Given the description of an element on the screen output the (x, y) to click on. 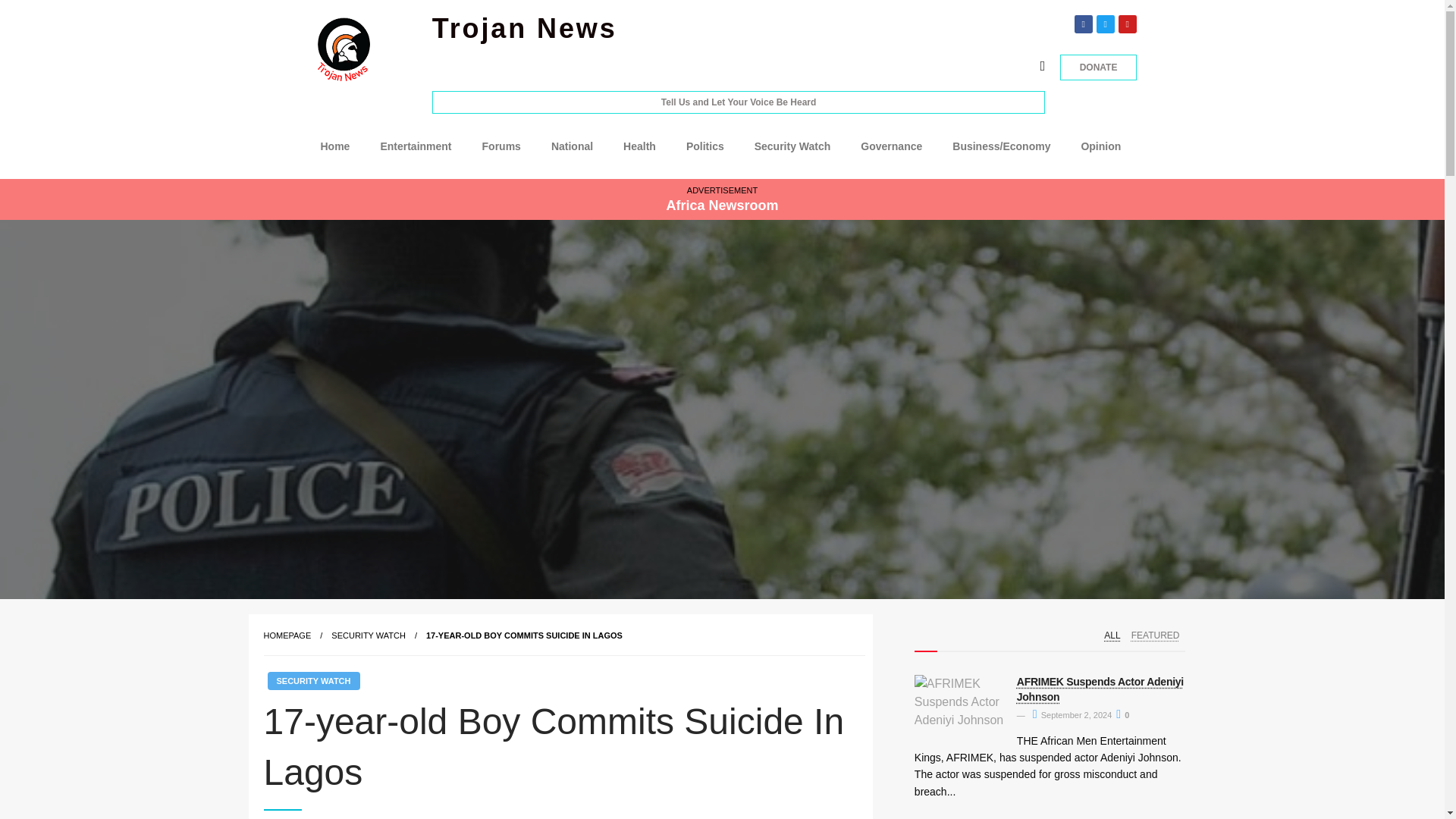
Opinion (1100, 145)
Governance (891, 145)
Security Watch (792, 145)
DONATE (1099, 67)
Trojan News (524, 28)
Forums (501, 145)
National (571, 145)
Entertainment (415, 145)
Politics (705, 145)
Home (334, 145)
